Given the description of an element on the screen output the (x, y) to click on. 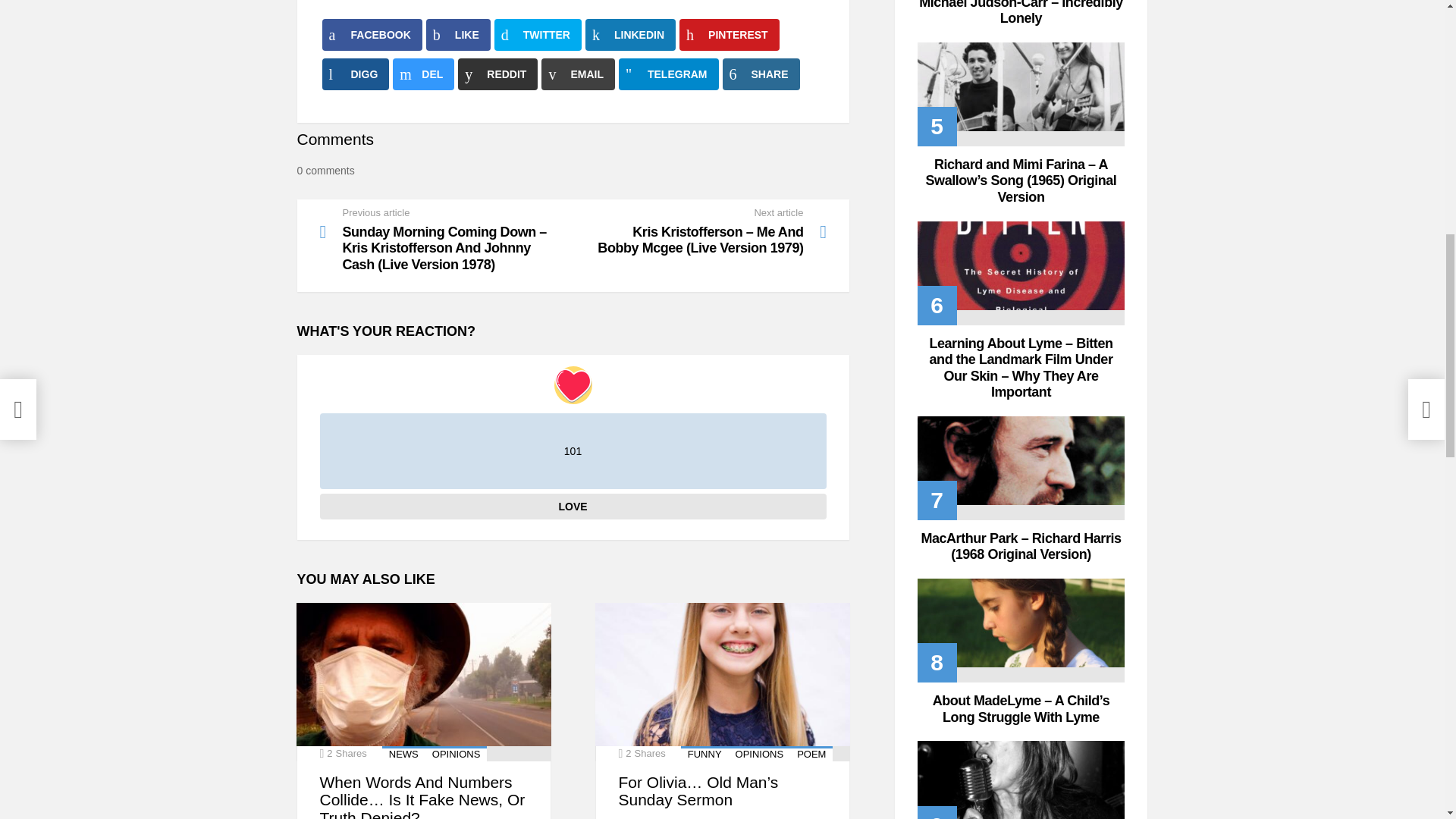
Share on Del (423, 74)
LINKEDIN (630, 34)
Share on Facebook (371, 34)
Share on Pinterest (728, 34)
DIGG (354, 74)
Share on Reddit (497, 74)
Share on Telegram (668, 74)
Share on Share (760, 74)
Share on Digg (354, 74)
LIKE (458, 34)
PINTEREST (728, 34)
EMAIL (577, 74)
Share on LinkedIn (630, 34)
FACEBOOK (371, 34)
Share on Like (458, 34)
